Given the description of an element on the screen output the (x, y) to click on. 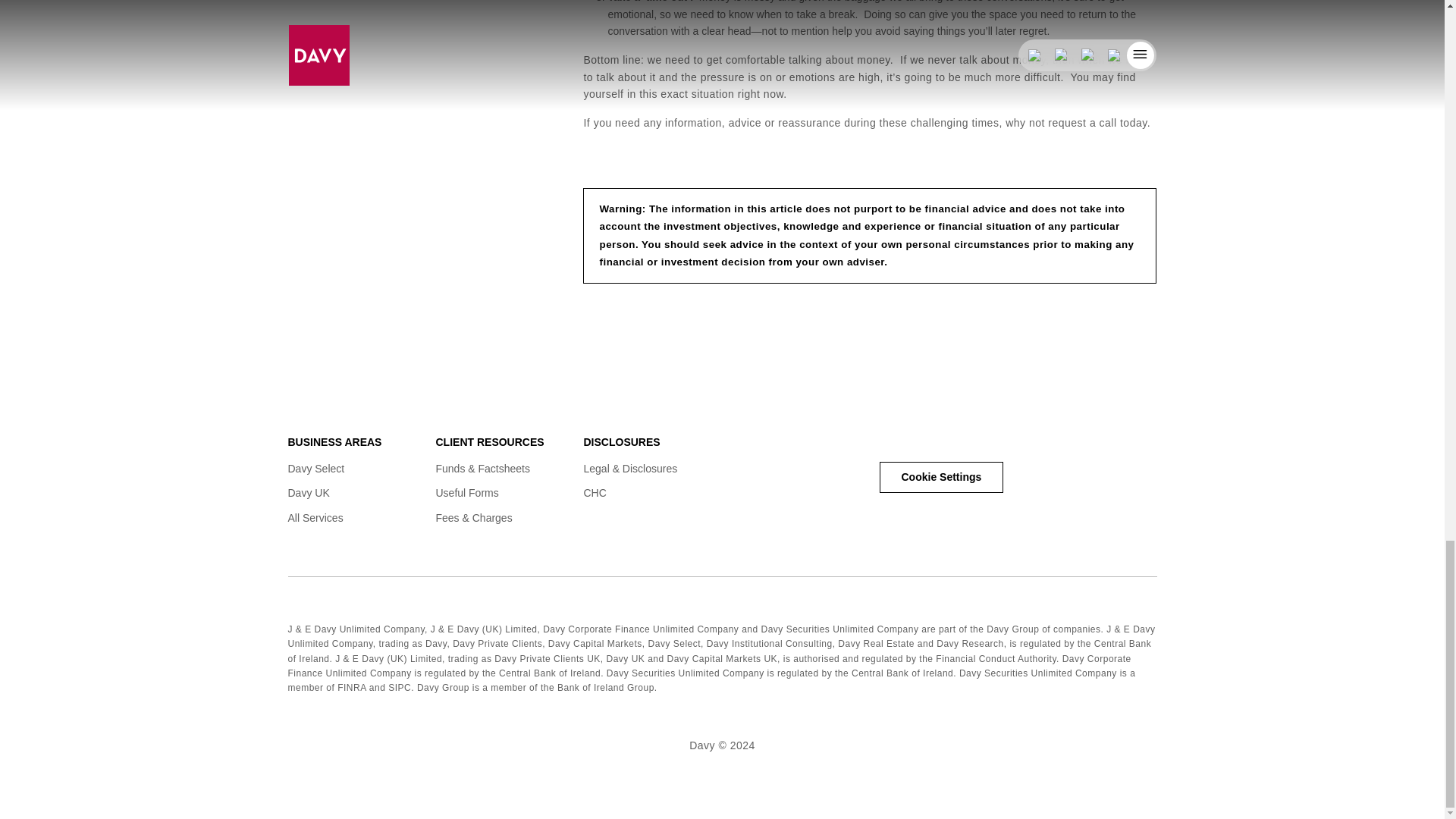
Youtube (981, 438)
Facebook (921, 438)
Linkedin (890, 438)
Twitter (951, 438)
